Given the description of an element on the screen output the (x, y) to click on. 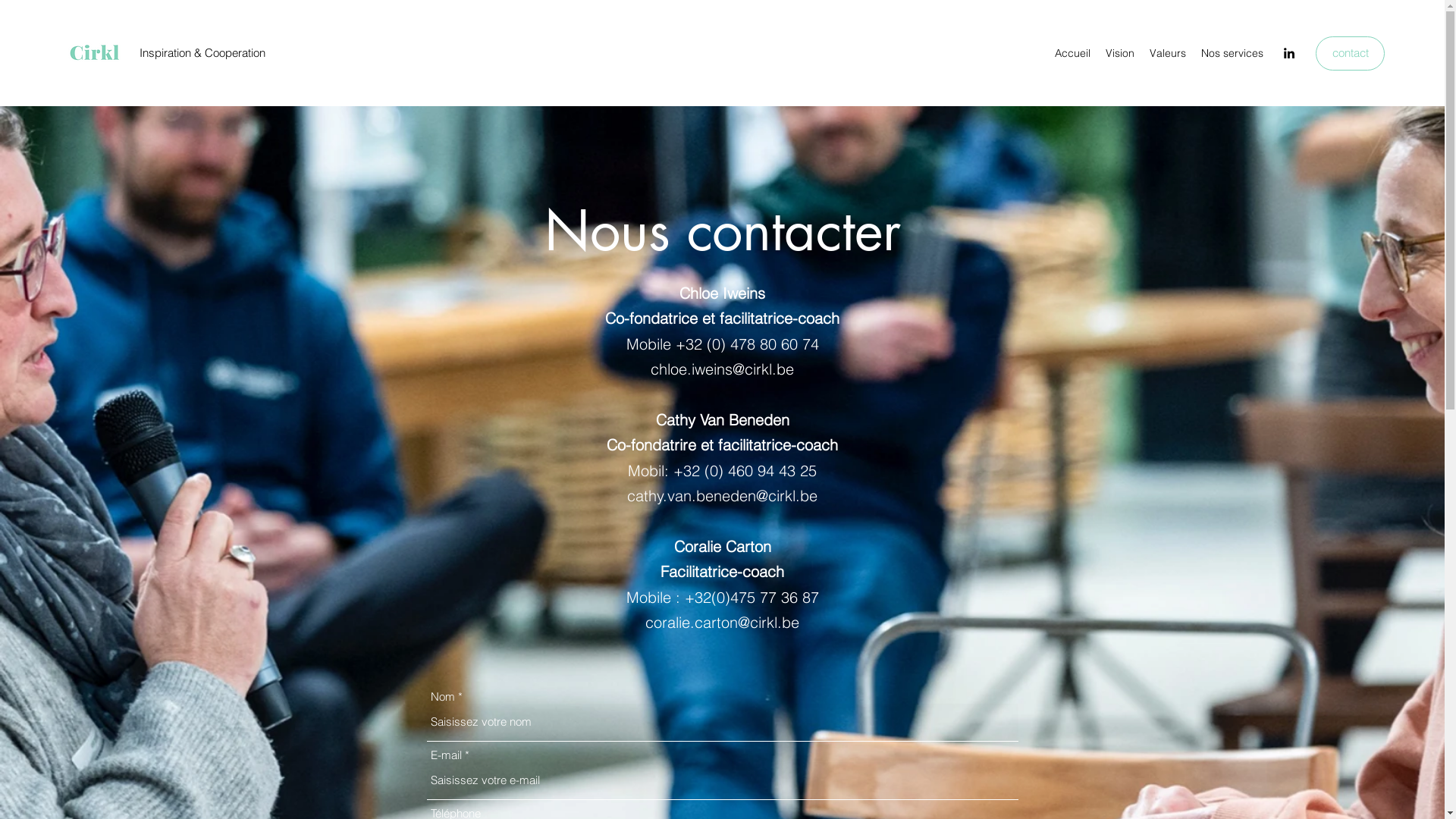
cathy.van.beneden@cirkl.be Element type: text (722, 495)
contact Element type: text (1349, 53)
Vision Element type: text (1120, 52)
Nos services Element type: text (1231, 52)
chloe.iweins@cirkl.be Element type: text (721, 368)
Valeurs Element type: text (1167, 52)
coralie.carton@cirkl.be Element type: text (722, 621)
Accueil Element type: text (1072, 52)
